Given the description of an element on the screen output the (x, y) to click on. 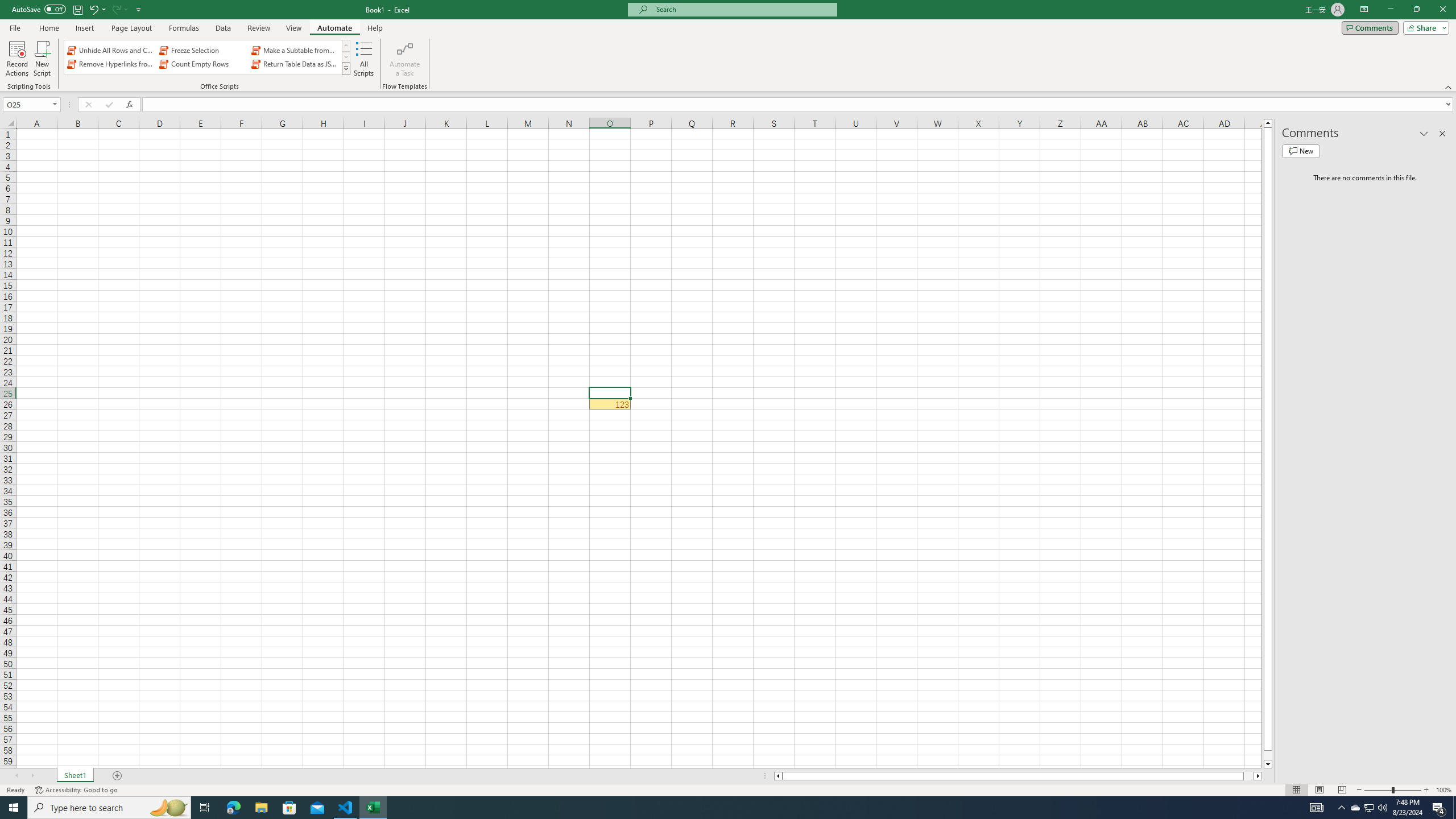
Remove Hyperlinks from Sheet (111, 64)
Count Empty Rows (202, 64)
